Given the description of an element on the screen output the (x, y) to click on. 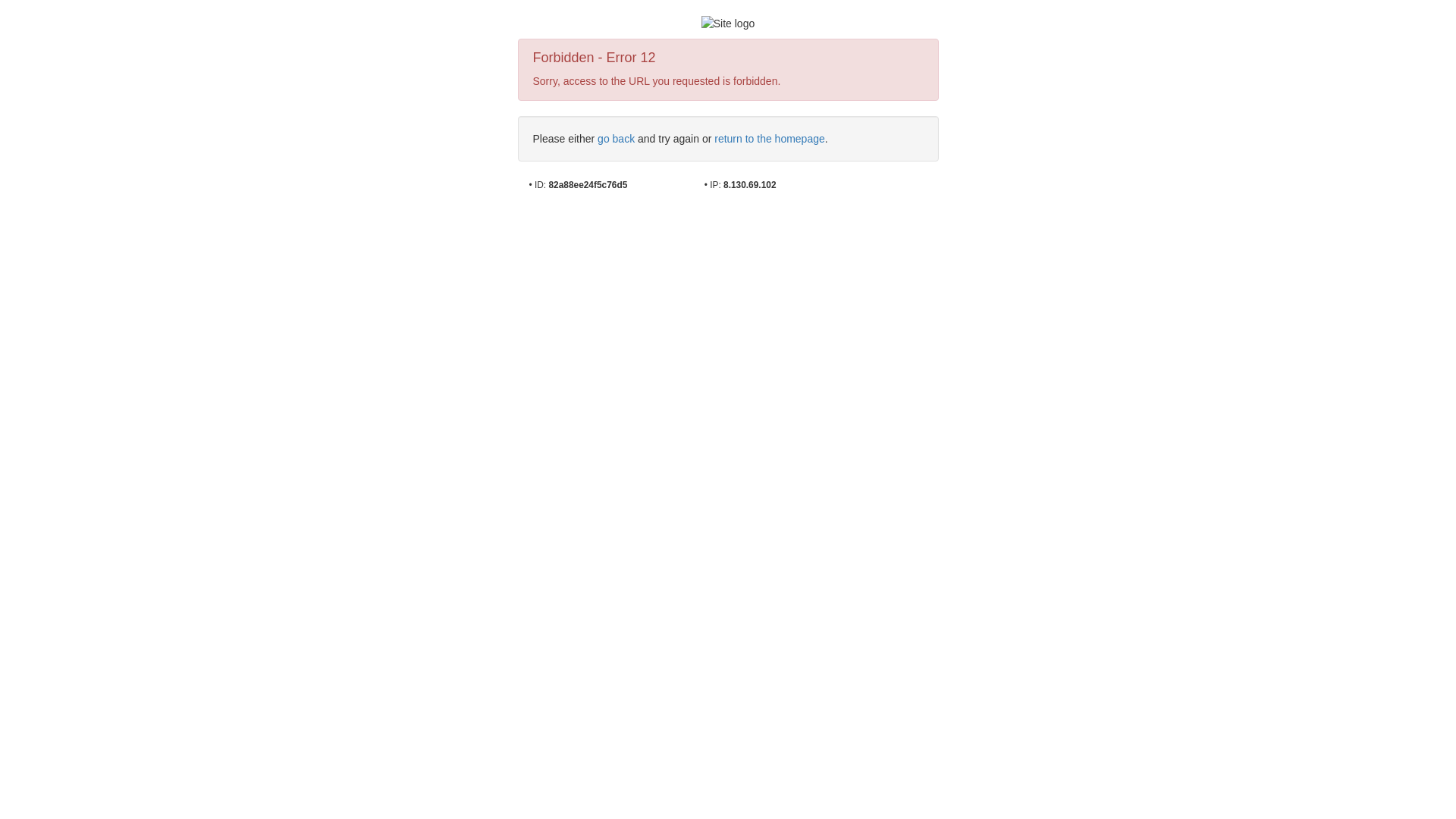
return to the homepage Element type: text (769, 138)
go back Element type: text (615, 138)
